Given the description of an element on the screen output the (x, y) to click on. 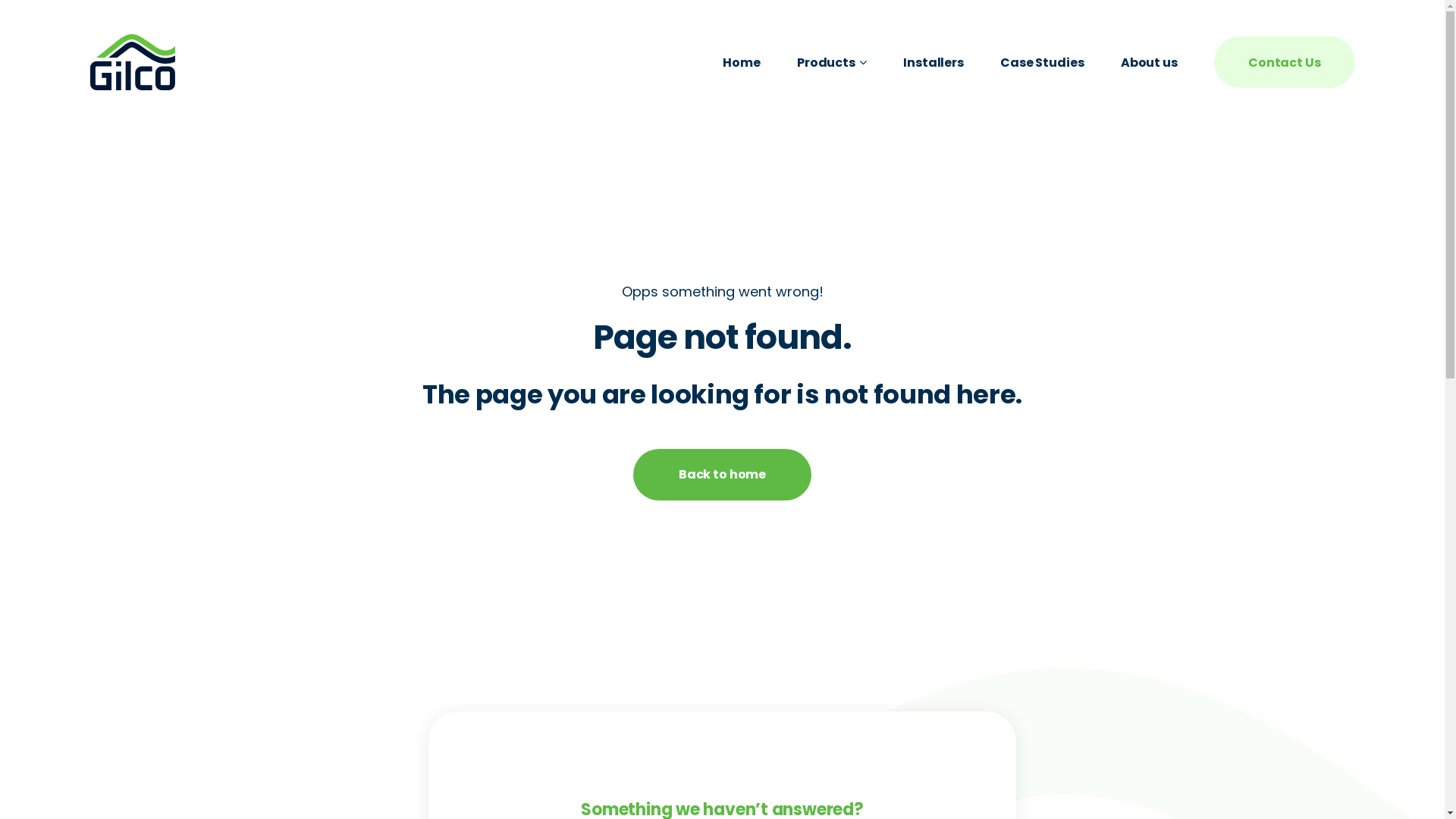
Contact Us Element type: text (1284, 61)
Case Studies Element type: text (1041, 61)
Products Element type: text (831, 61)
Back to home Element type: text (722, 474)
Home Element type: text (740, 61)
Installers Element type: text (933, 61)
About us Element type: text (1148, 61)
